Given the description of an element on the screen output the (x, y) to click on. 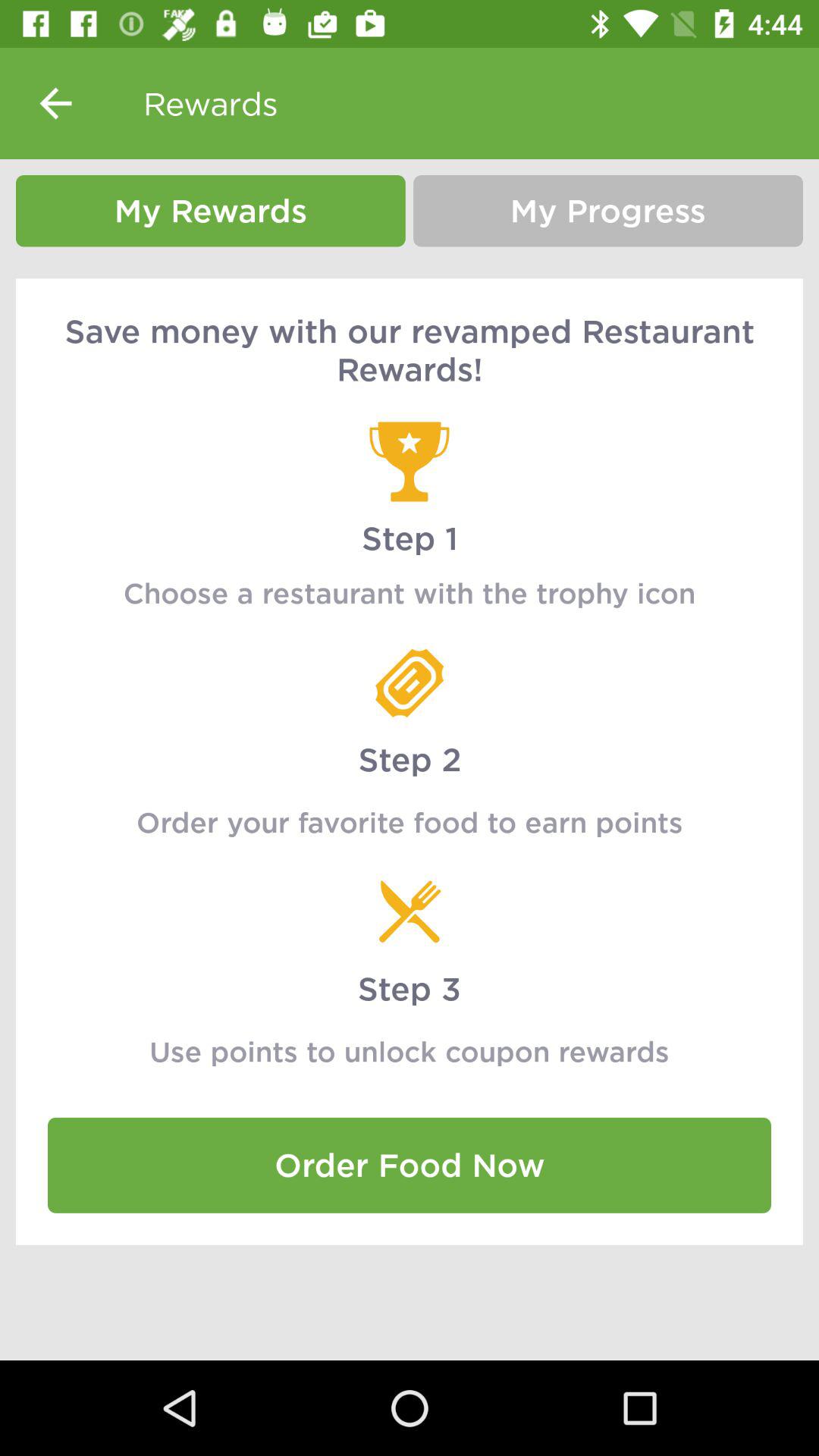
click my progress icon (608, 210)
